Given the description of an element on the screen output the (x, y) to click on. 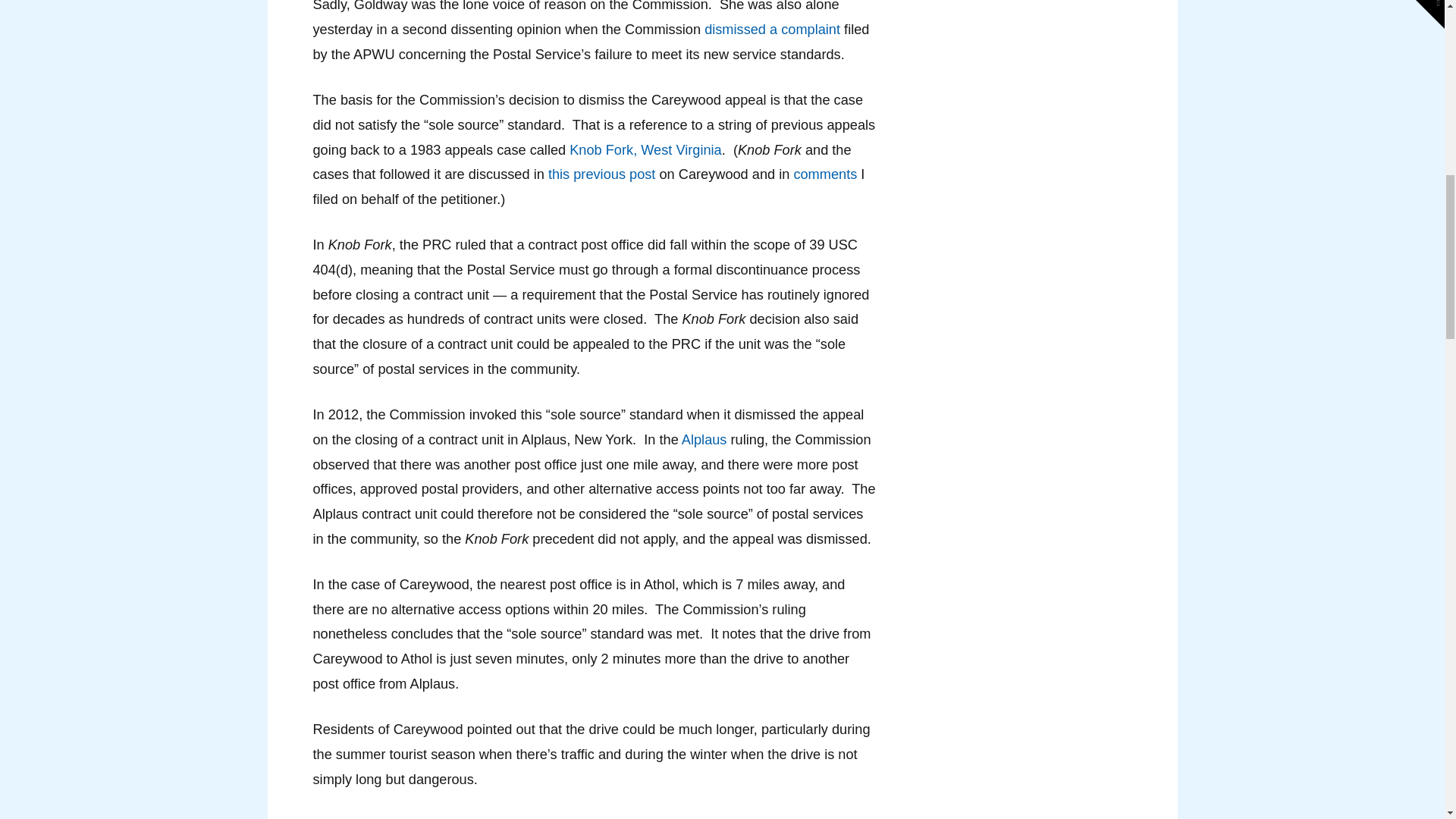
this previous post (602, 174)
comments (825, 174)
Alplaus (703, 439)
Knob Fork, West Virginia (645, 150)
dismissed a complaint (772, 29)
